Given the description of an element on the screen output the (x, y) to click on. 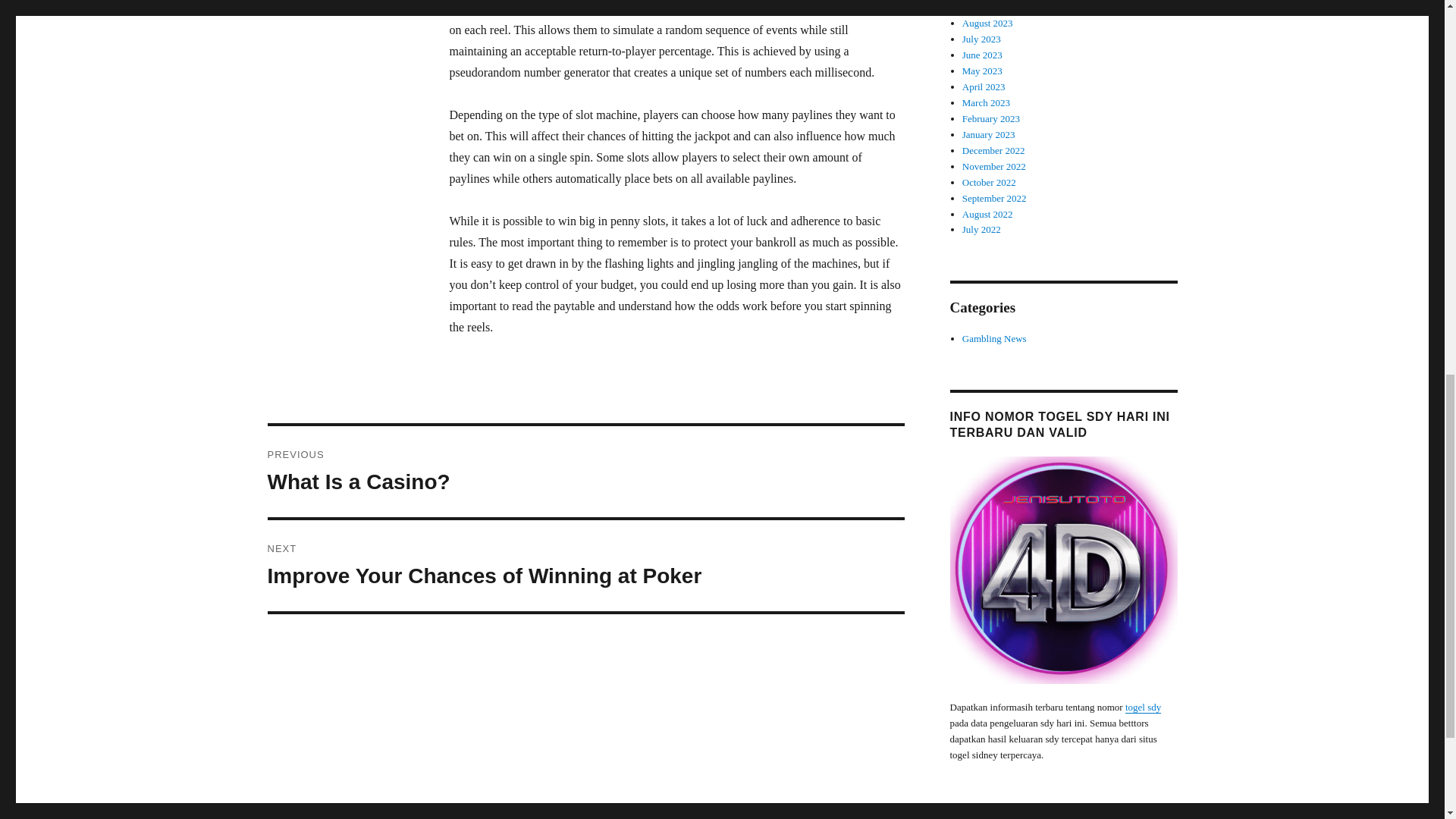
August 2022 (987, 213)
July 2022 (981, 229)
March 2023 (986, 102)
February 2023 (585, 565)
July 2023 (991, 118)
November 2022 (981, 39)
December 2022 (585, 470)
September 2023 (994, 165)
June 2023 (993, 150)
October 2022 (994, 7)
August 2023 (982, 54)
January 2023 (989, 182)
Gambling News (987, 22)
